Given the description of an element on the screen output the (x, y) to click on. 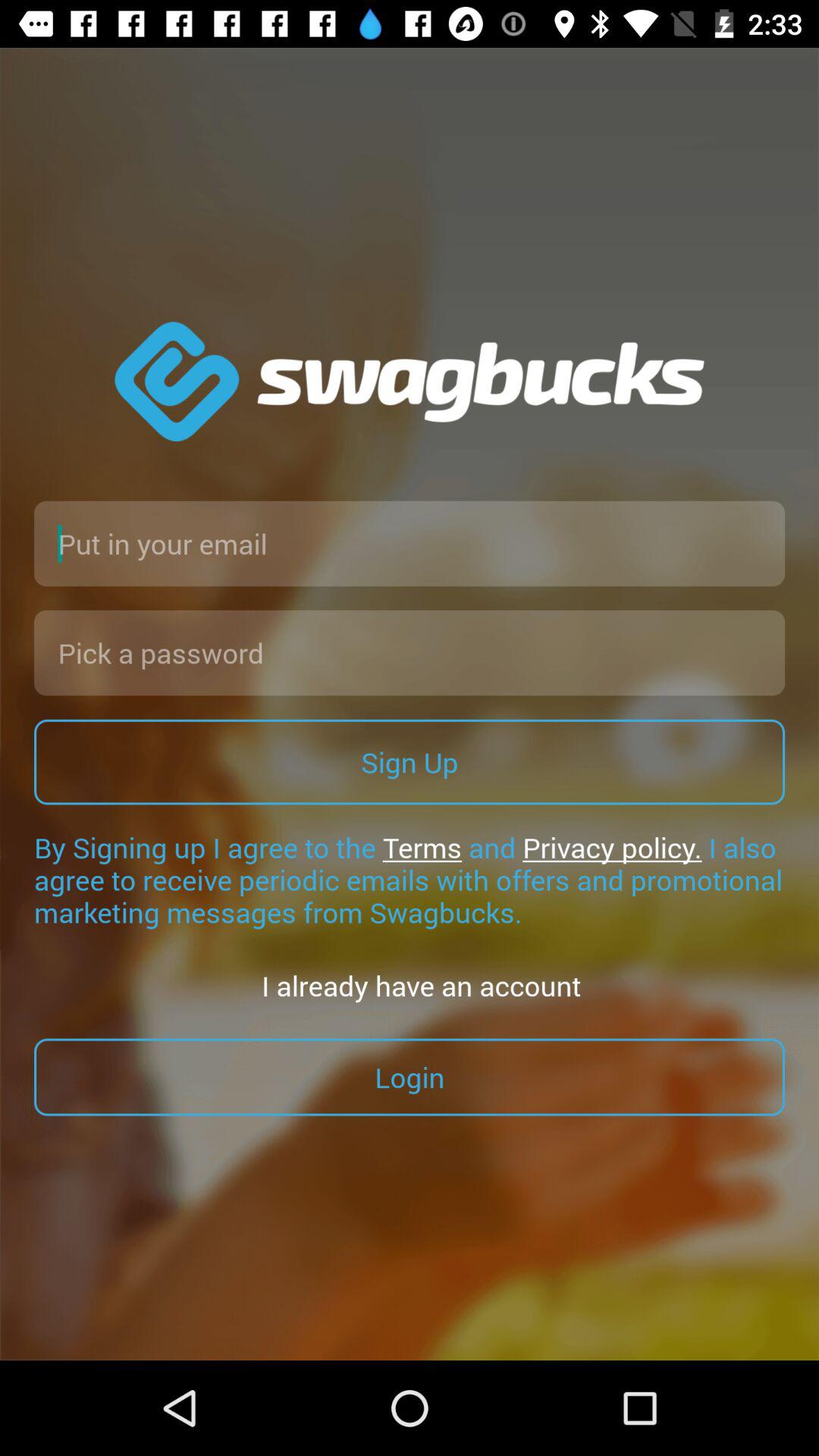
open the by signing up item (409, 879)
